Given the description of an element on the screen output the (x, y) to click on. 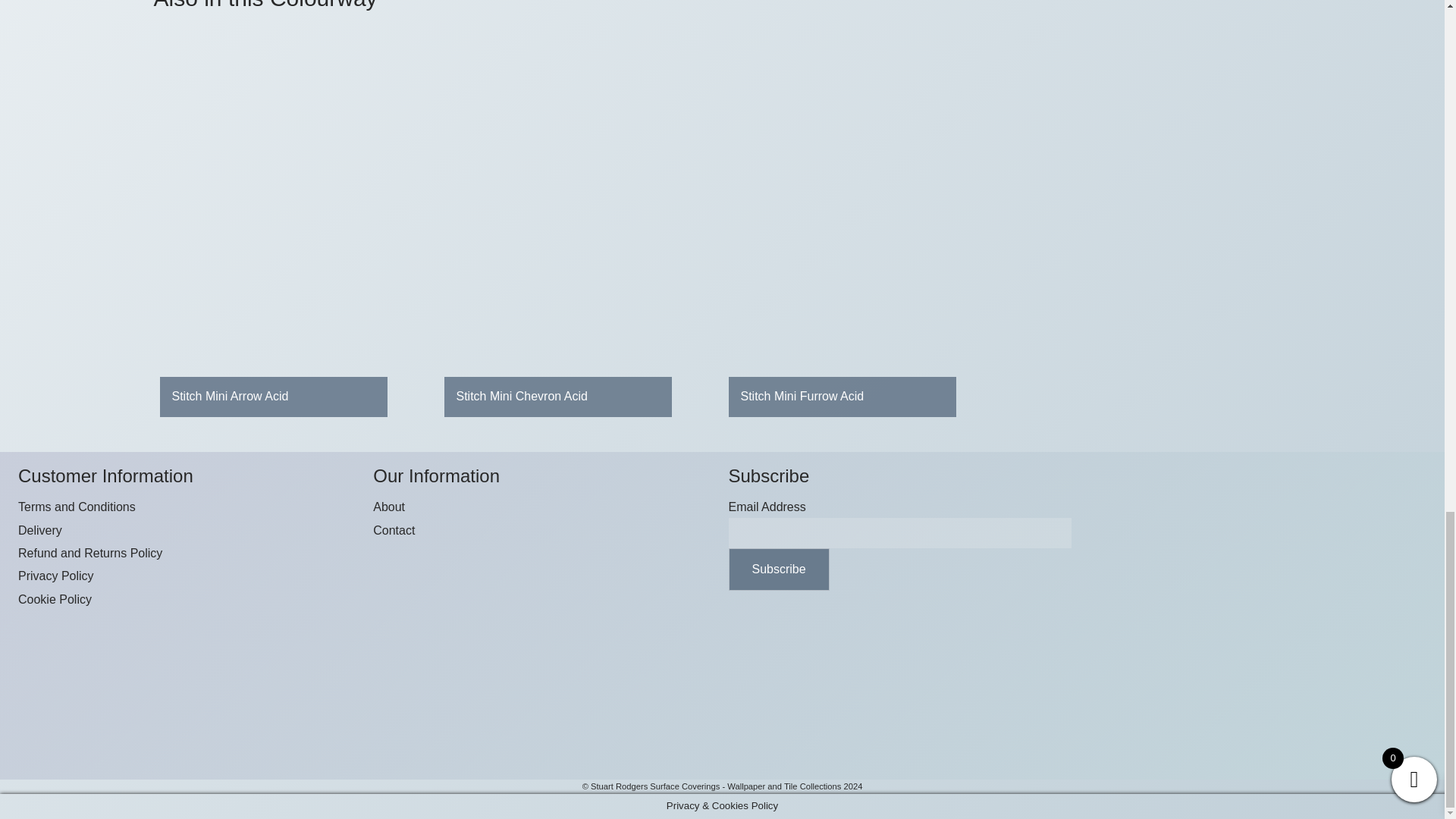
Cookie Policy (54, 599)
Subscribe (778, 568)
Privacy Policy (55, 575)
Contact (393, 530)
Refund and Returns Policy (89, 553)
Delivery (39, 530)
Terms and Conditions (76, 506)
About (388, 506)
Subscribe (778, 568)
